Given the description of an element on the screen output the (x, y) to click on. 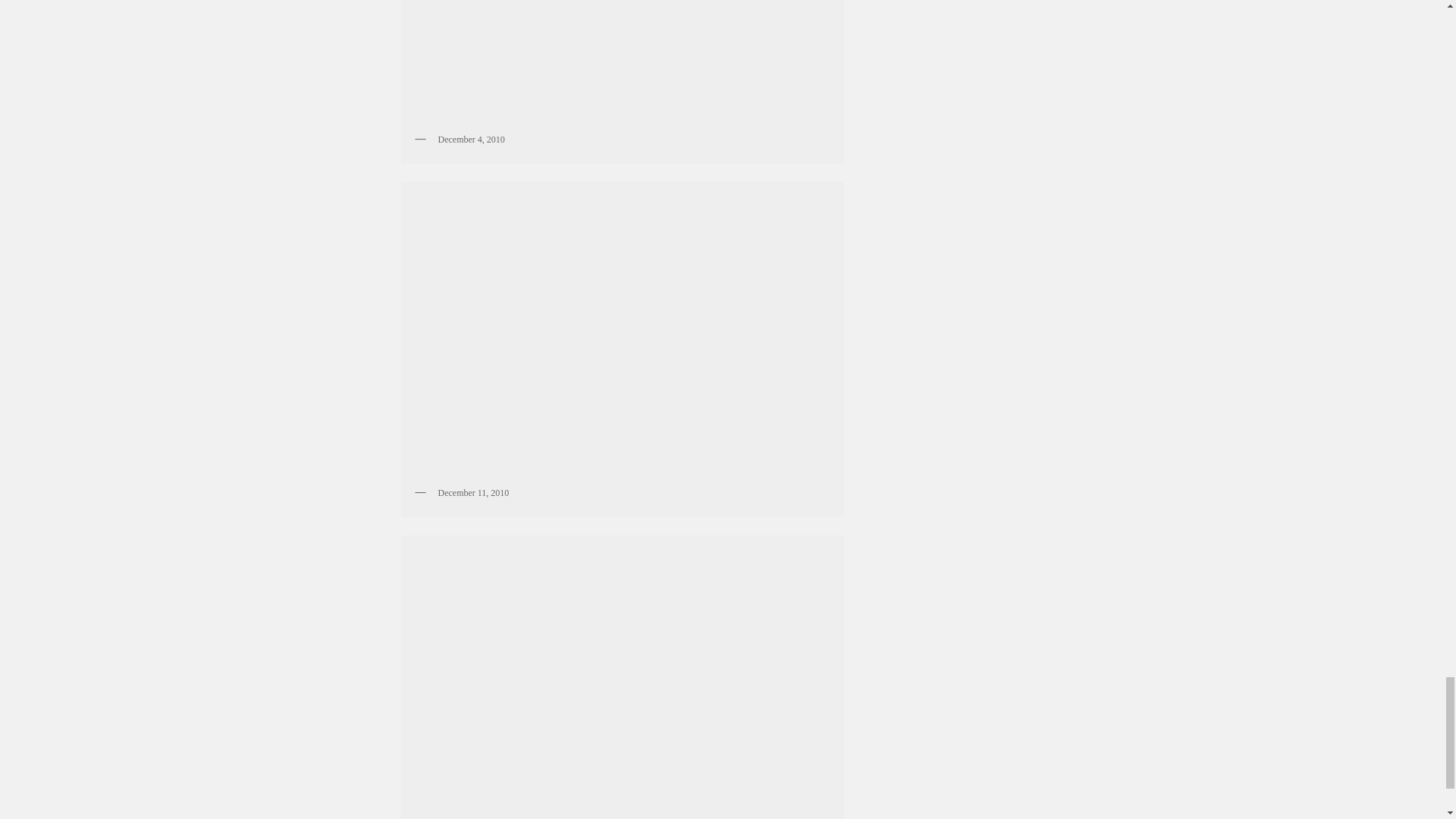
December 11, 2010 (622, 333)
December 4, 2010 (622, 63)
December 17, 2010 (622, 680)
